Given the description of an element on the screen output the (x, y) to click on. 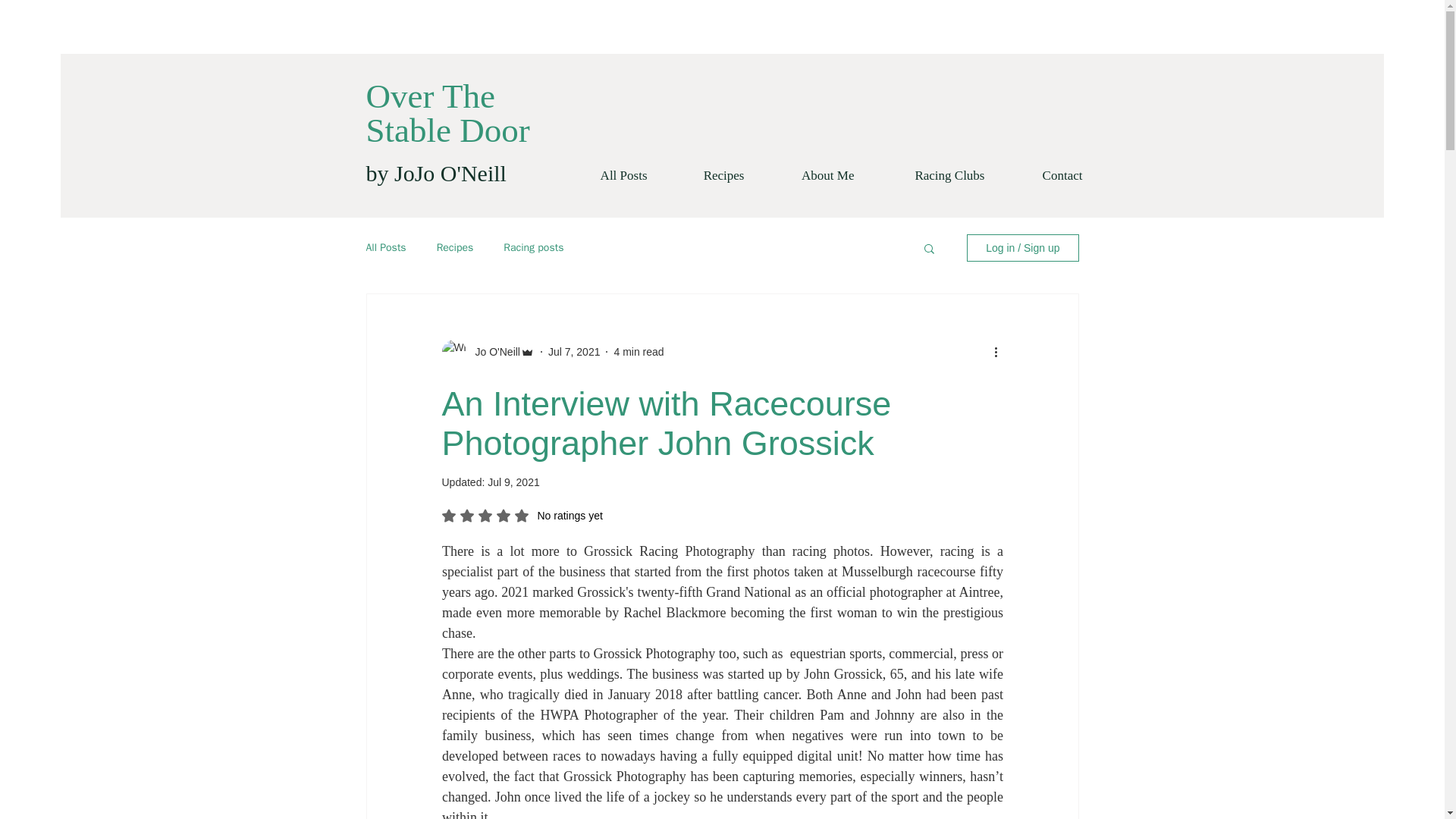
All Posts (385, 247)
Jul 7, 2021 (573, 351)
About Me (809, 175)
Recipes (706, 175)
Recipes (455, 247)
Racing posts (533, 247)
Contact (1044, 175)
4 min read (637, 351)
All Posts (607, 175)
Jul 9, 2021 (513, 481)
Jo O'Neill (447, 112)
